Given the description of an element on the screen output the (x, y) to click on. 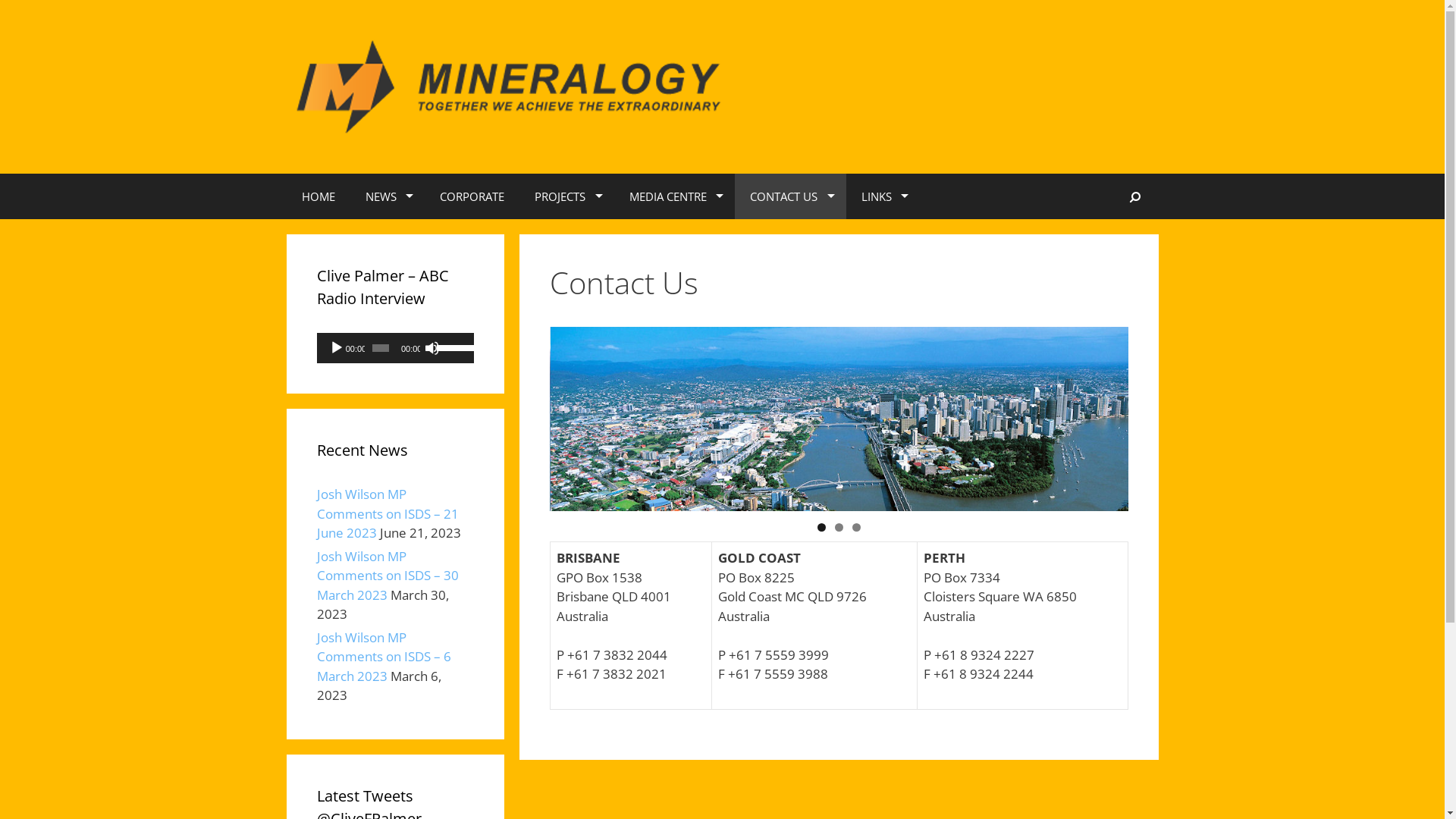
HOME Element type: text (318, 196)
2 Element type: text (838, 527)
PROJECTS Element type: text (566, 196)
Use Up/Down Arrow keys to increase or decrease volume. Element type: text (451, 346)
3 Element type: text (856, 527)
1 Element type: text (821, 527)
NEWS Element type: text (387, 196)
CONTACT US Element type: text (790, 196)
Mute Element type: hover (431, 347)
Search Element type: hover (1135, 196)
Mineralogy Element type: hover (513, 86)
Mineralogy Element type: hover (513, 85)
Play Element type: hover (336, 347)
MEDIA CENTRE Element type: text (674, 196)
LINKS Element type: text (883, 196)
CORPORATE Element type: text (471, 196)
